Given the description of an element on the screen output the (x, y) to click on. 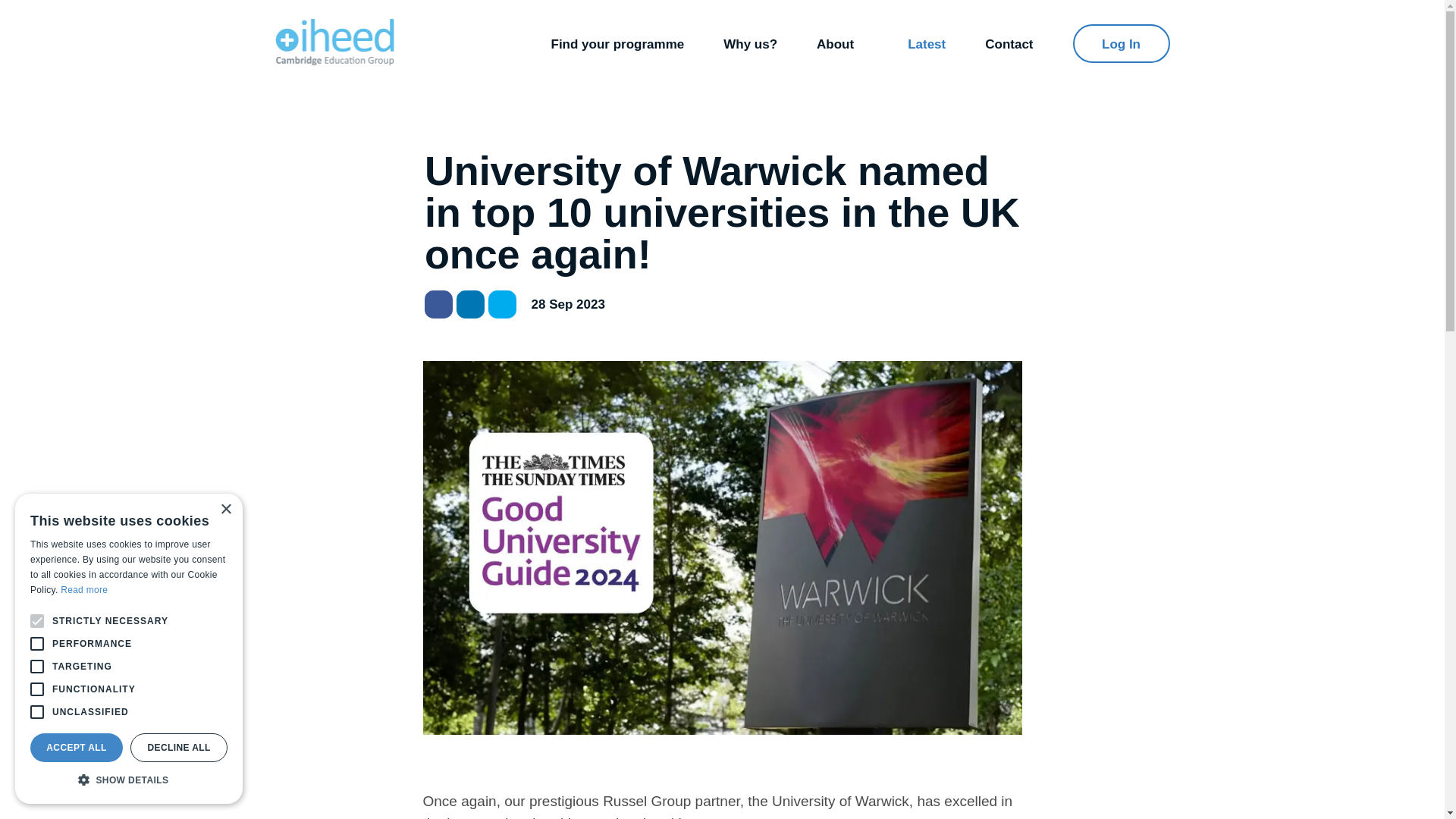
Latest (925, 43)
Find your programme (617, 43)
Share on Twitter (501, 304)
Contact (1008, 43)
Share on LinkedIn (470, 304)
Share on Facebook (438, 304)
Why us? (750, 43)
Log In (1120, 43)
